Given the description of an element on the screen output the (x, y) to click on. 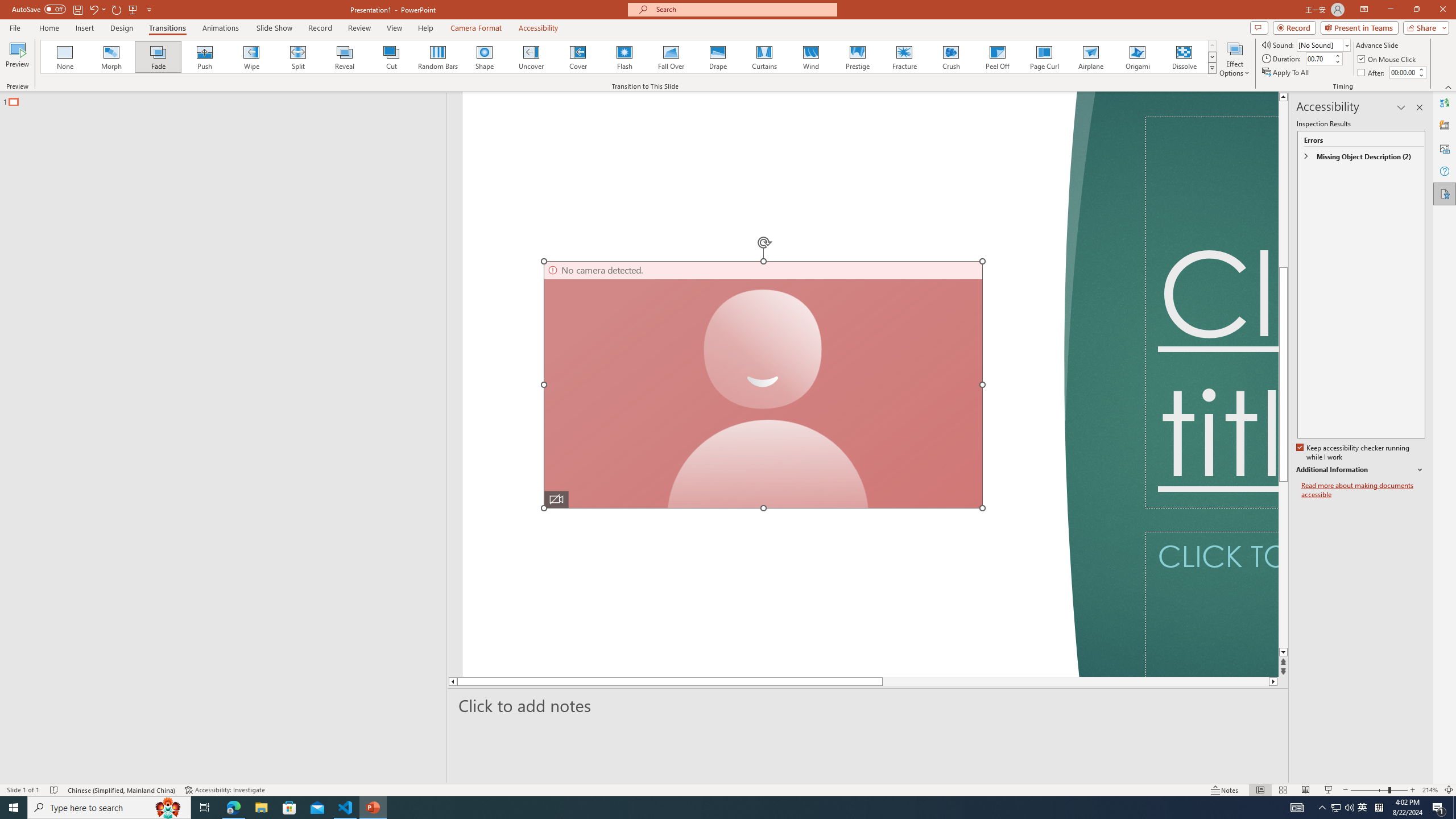
Flash (624, 56)
Push (205, 56)
Line down (1283, 652)
Apply To All (1286, 72)
Read more about making documents accessible (1363, 489)
After (1403, 72)
After (1372, 72)
Morph (111, 56)
Preview (17, 58)
